Given the description of an element on the screen output the (x, y) to click on. 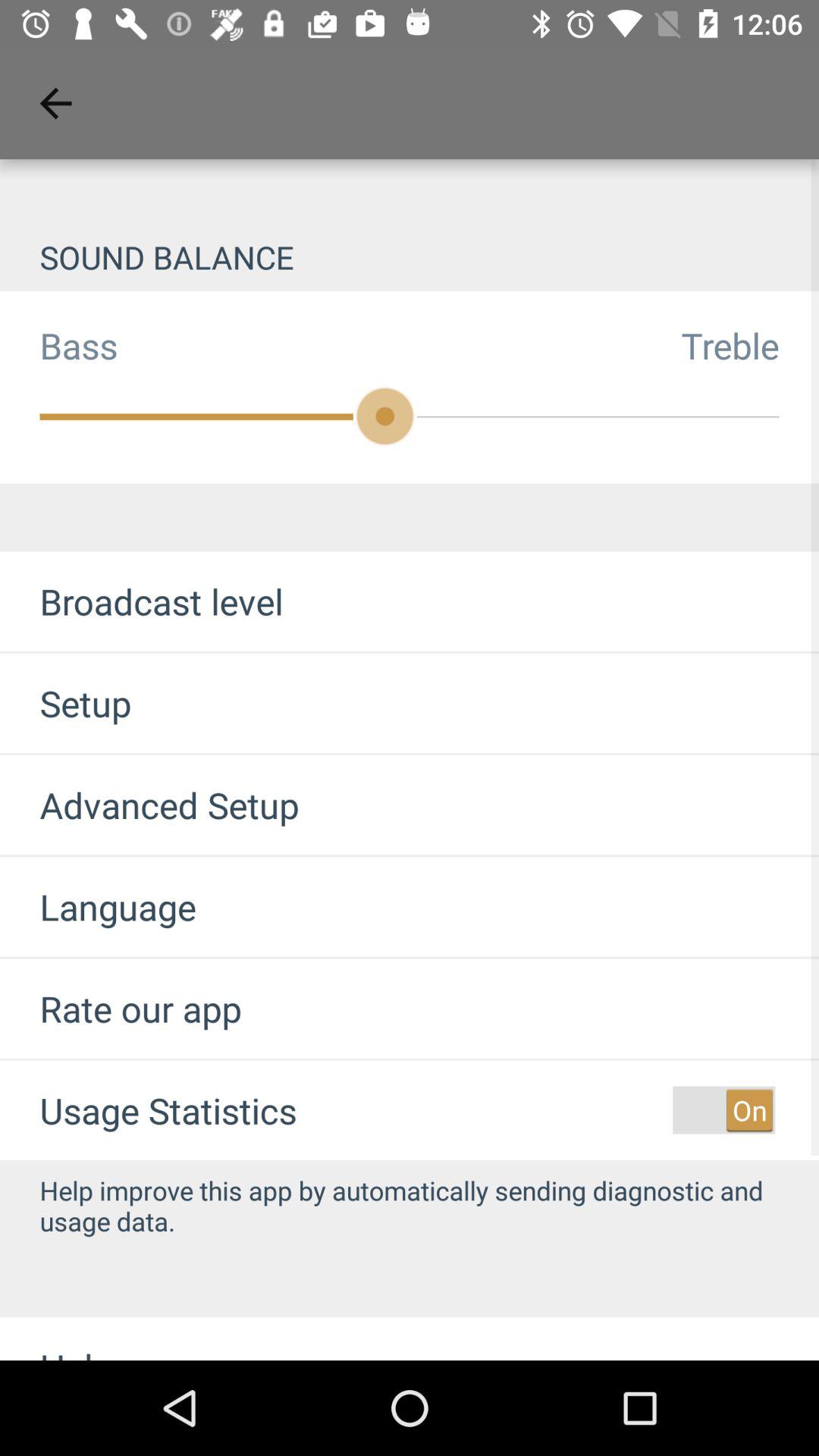
swipe until usage statistics (167, 1110)
